Given the description of an element on the screen output the (x, y) to click on. 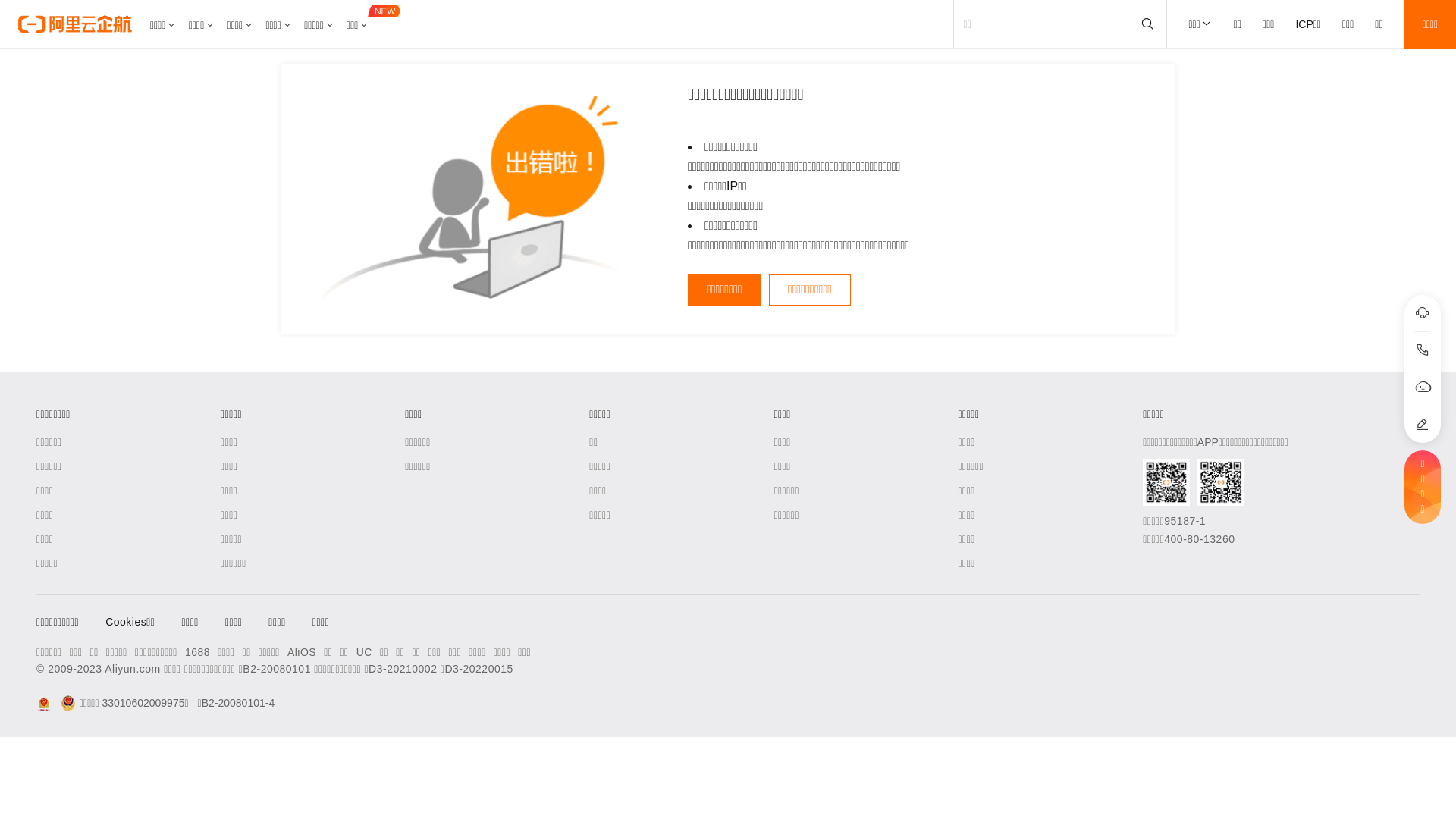
UC Element type: text (364, 652)
AliOS Element type: text (301, 652)
1688 Element type: text (197, 652)
